Given the description of an element on the screen output the (x, y) to click on. 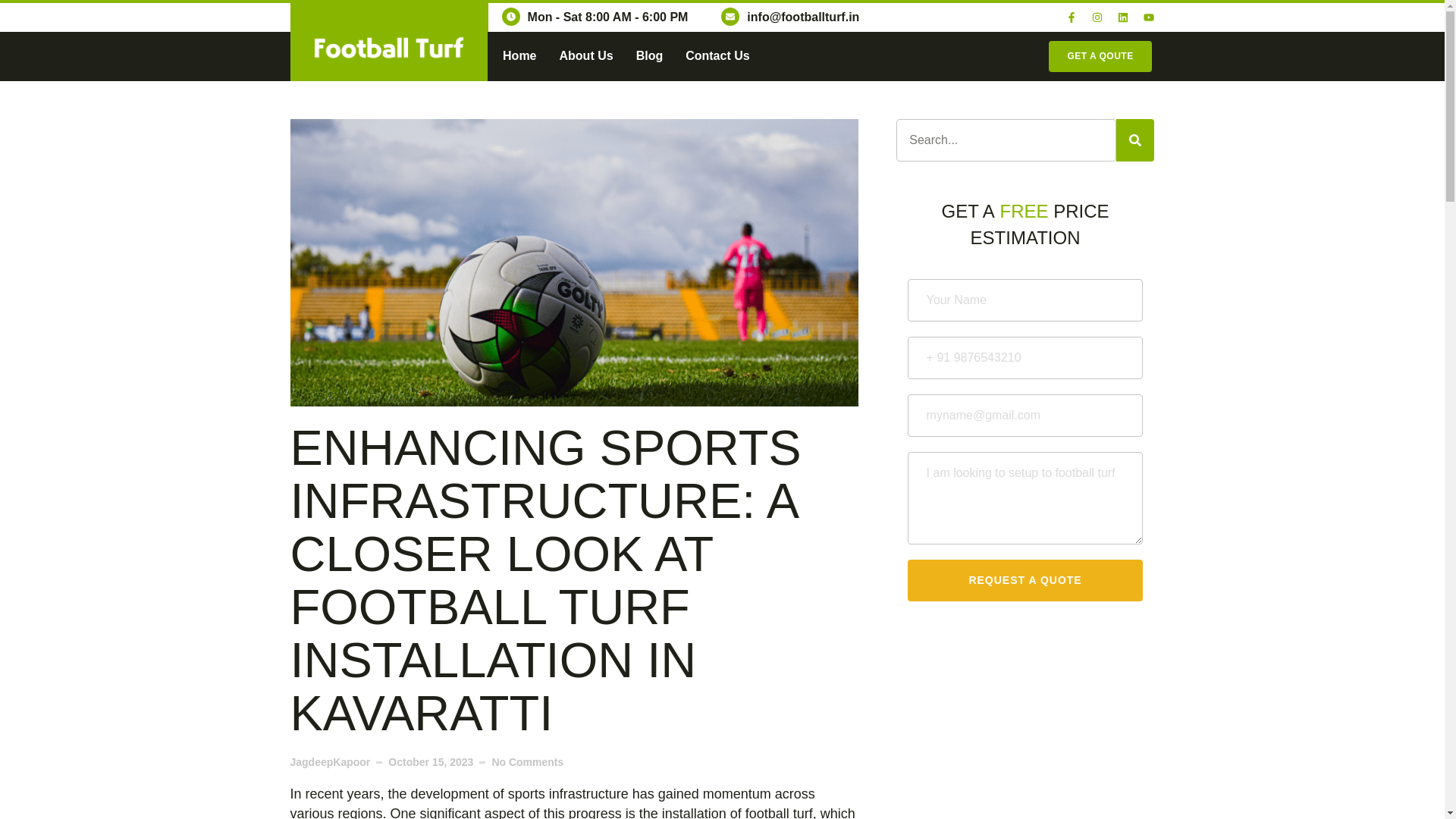
October 15, 2023 (430, 762)
Contact Us (717, 55)
Blog (649, 55)
No Comments (527, 762)
GET A QOUTE (1099, 55)
JagdeepKapoor (329, 762)
Home (518, 55)
About Us (585, 55)
REQUEST A QUOTE (1024, 580)
